Given the description of an element on the screen output the (x, y) to click on. 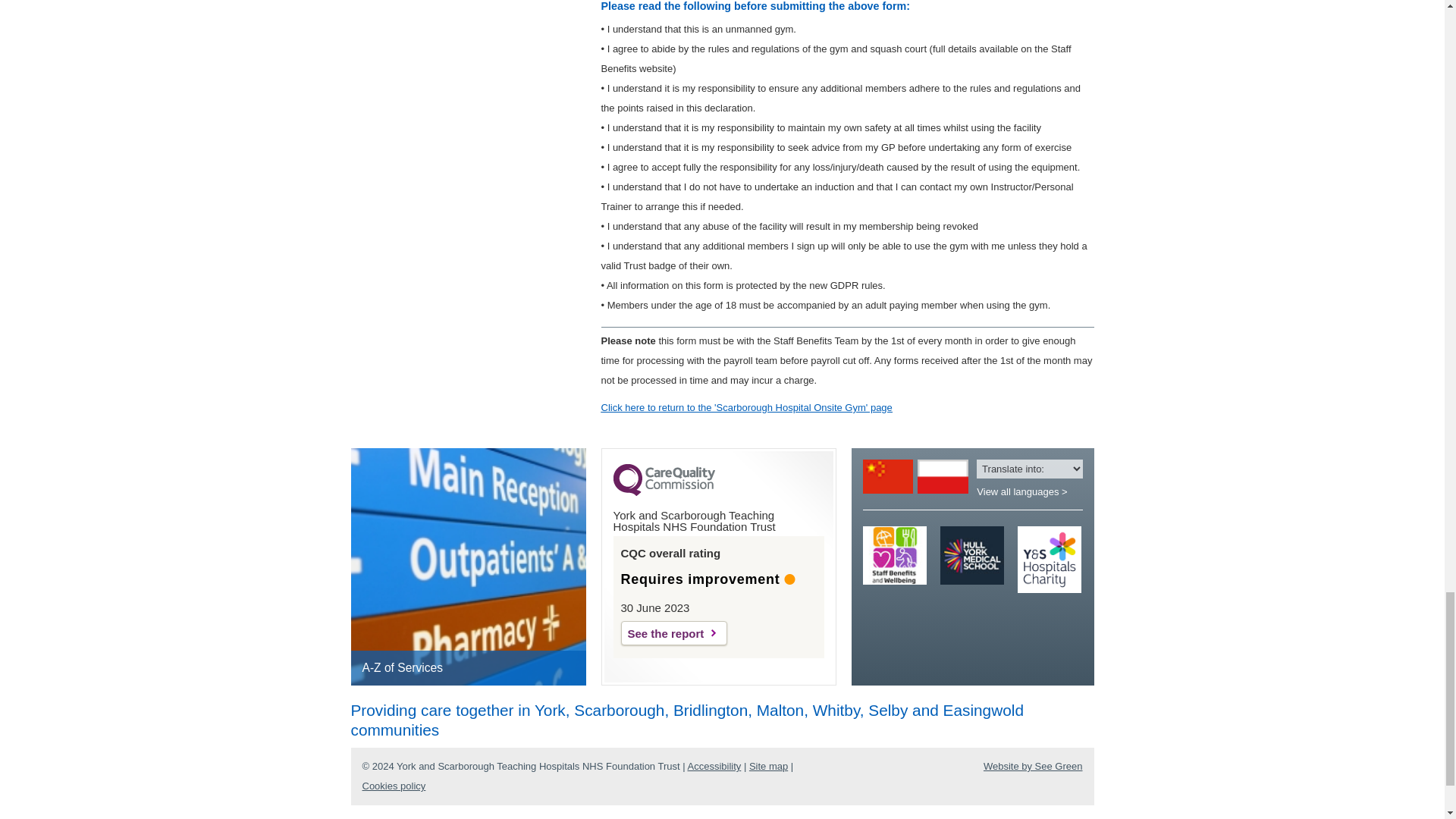
CQC Logo (663, 491)
